Given the description of an element on the screen output the (x, y) to click on. 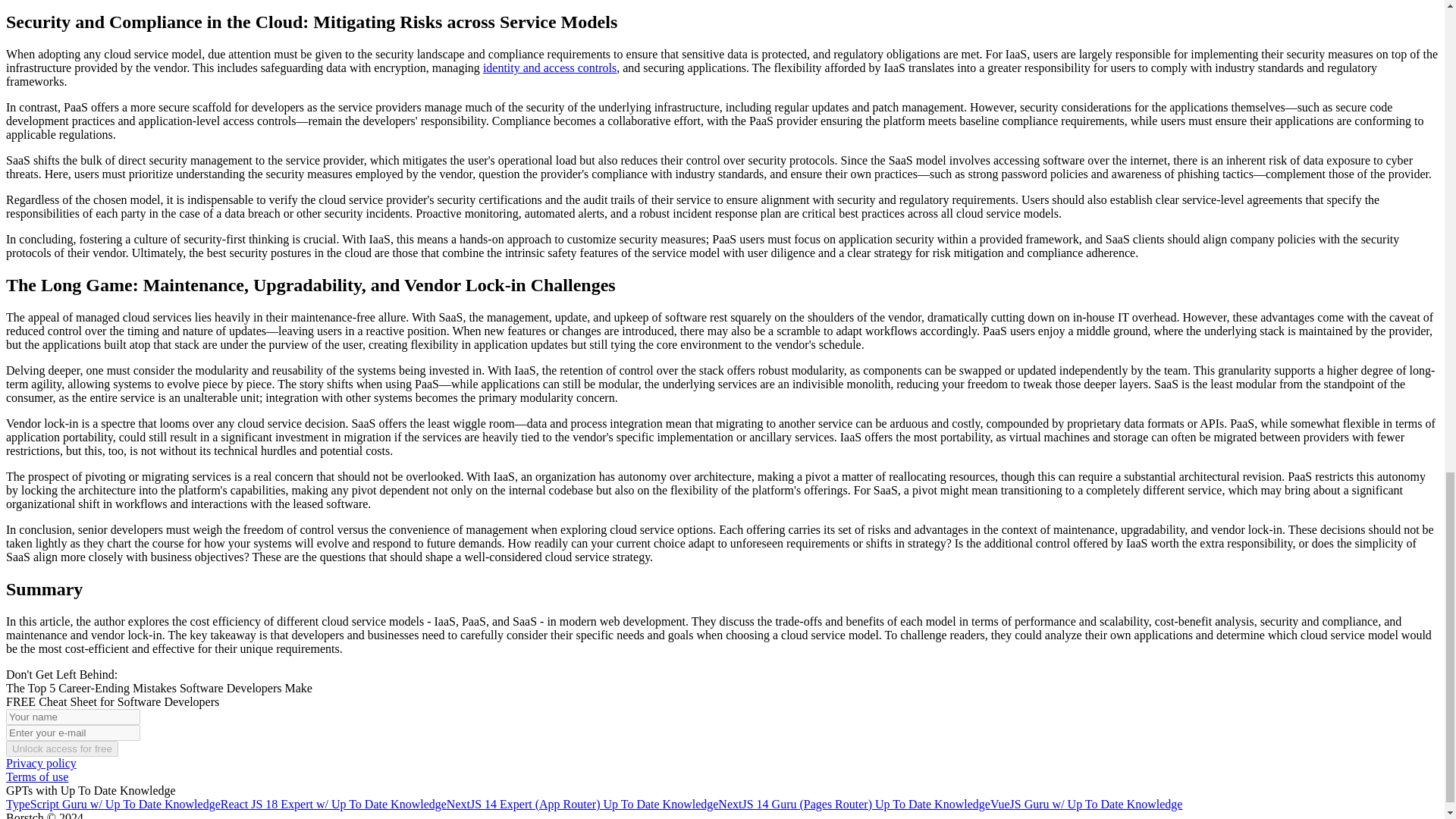
Unlock access for free (61, 748)
Privacy policy (41, 762)
identity and access controls (549, 67)
Terms of use (36, 776)
